Given the description of an element on the screen output the (x, y) to click on. 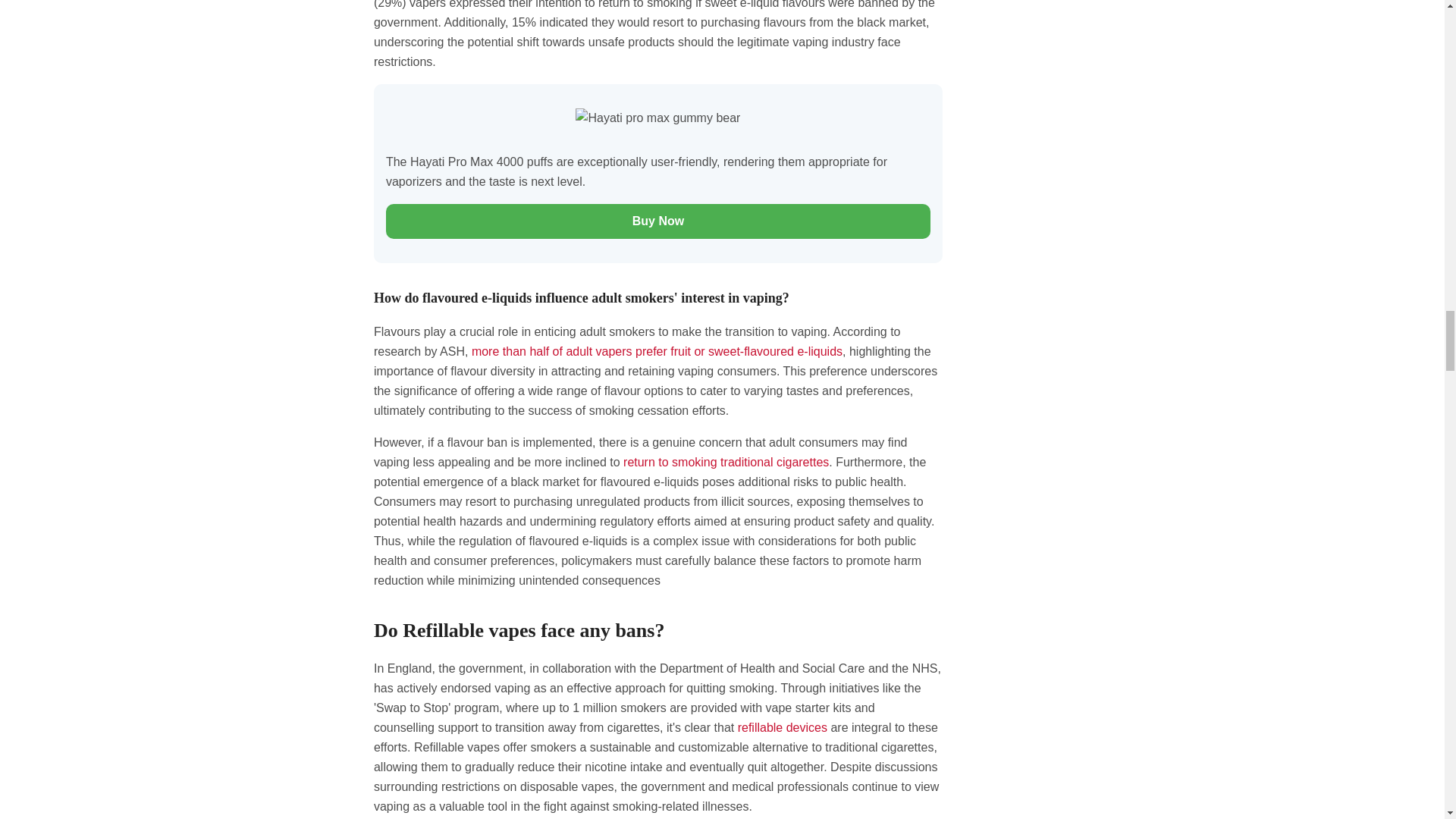
disposable vape ban (725, 461)
Fruits and Sweet E-liquids (657, 350)
Refillable Vape (782, 727)
